Given the description of an element on the screen output the (x, y) to click on. 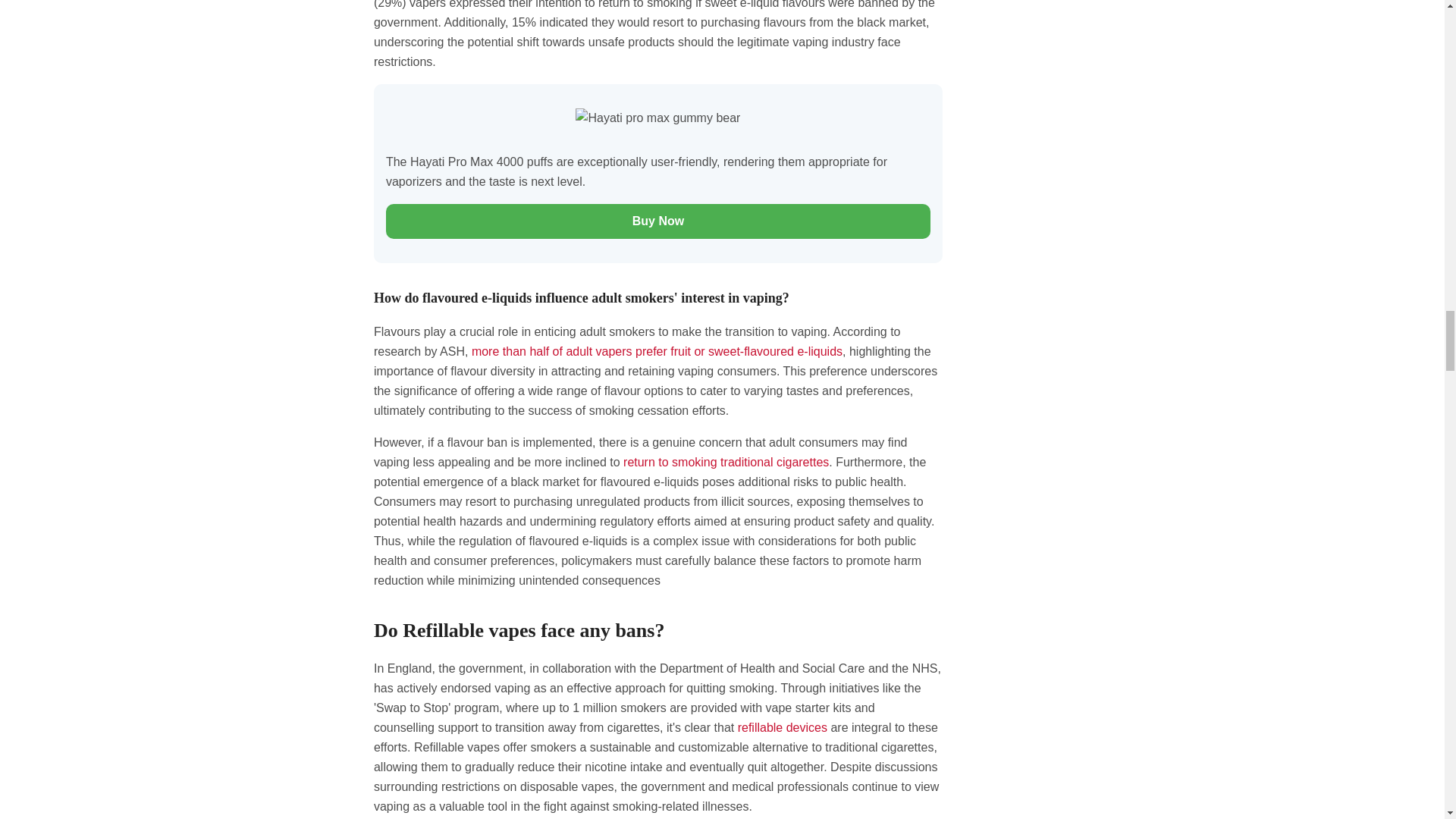
disposable vape ban (725, 461)
Fruits and Sweet E-liquids (657, 350)
Refillable Vape (782, 727)
